Given the description of an element on the screen output the (x, y) to click on. 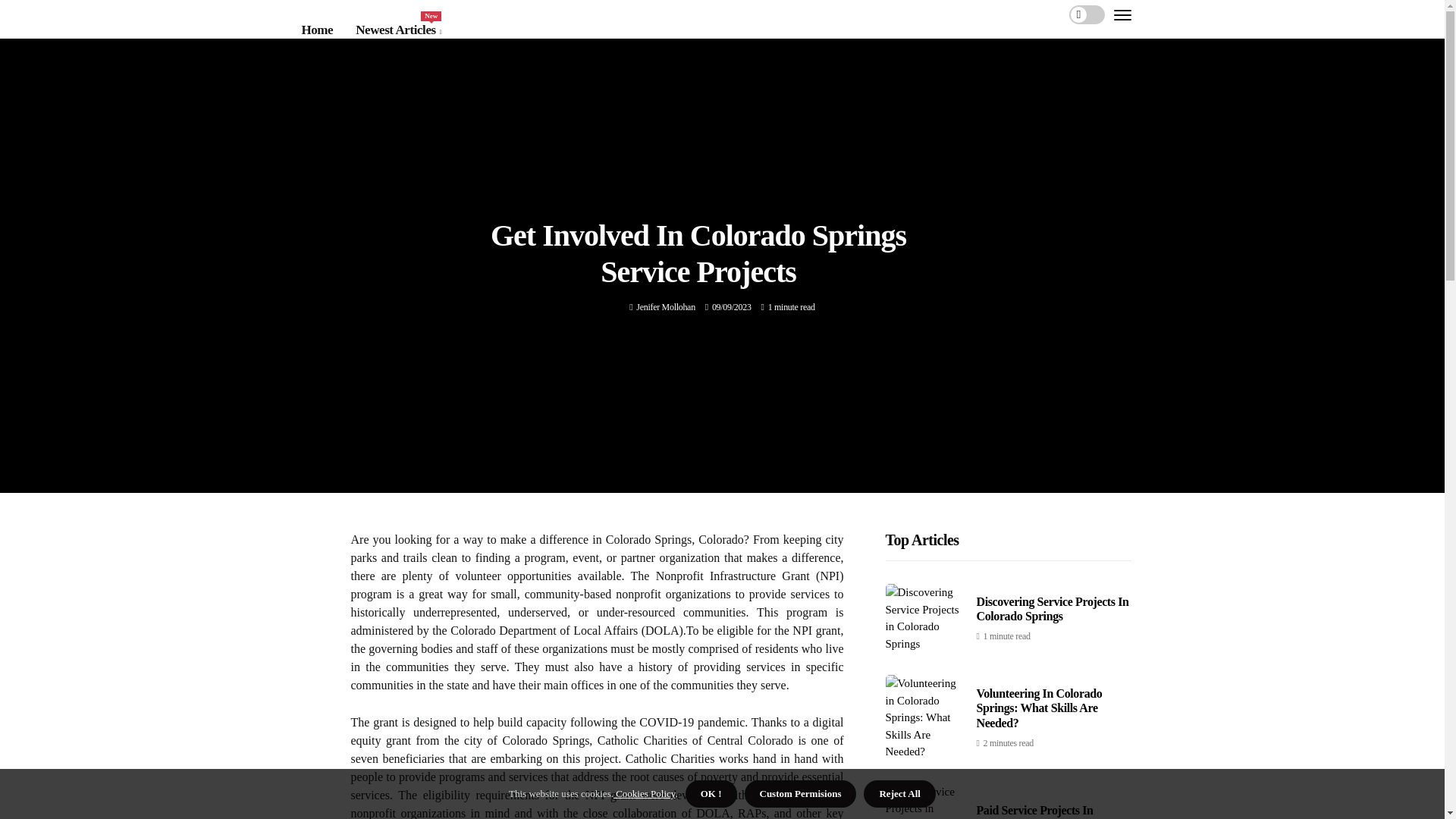
Jenifer Mollohan (665, 307)
Posts by Jenifer Mollohan (398, 30)
Discovering Service Projects In Colorado Springs (665, 307)
Volunteering In Colorado Springs: What Skills Are Needed? (1052, 608)
